Given the description of an element on the screen output the (x, y) to click on. 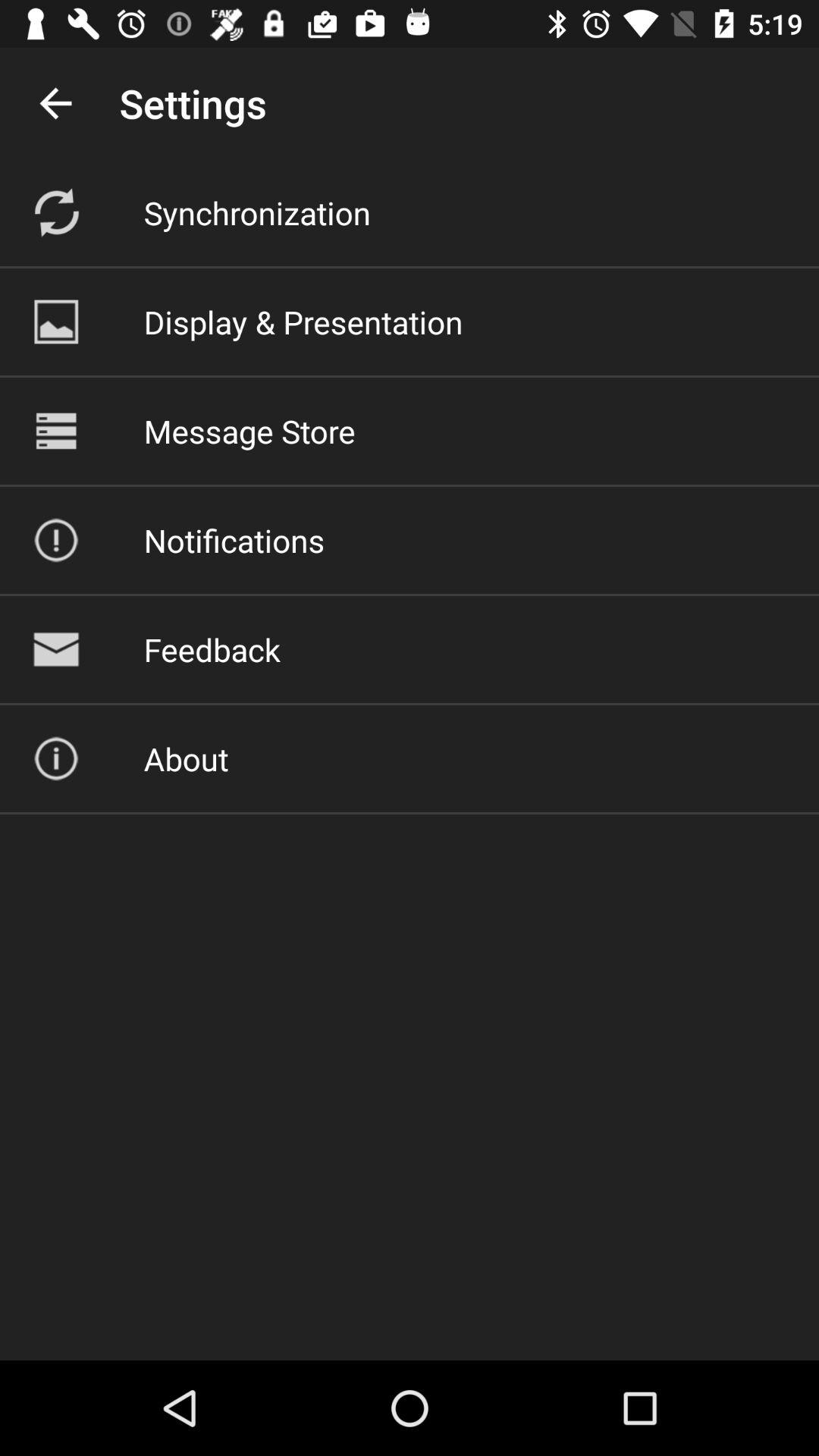
open icon below synchronization icon (302, 321)
